Given the description of an element on the screen output the (x, y) to click on. 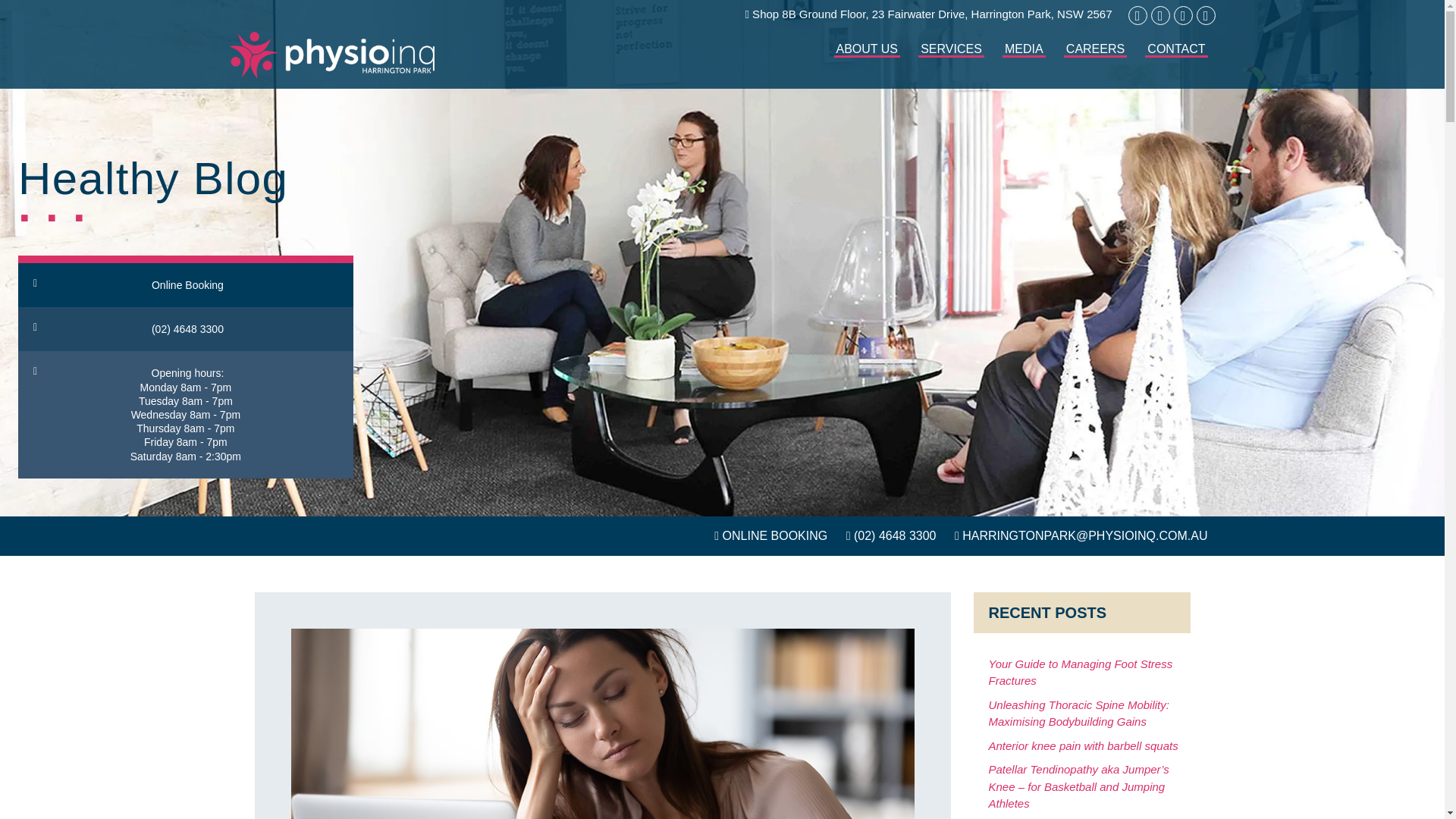
Online Booking (185, 281)
Facebook (1137, 15)
Instagram (1160, 15)
ONLINE BOOKING (770, 535)
CAREERS (1095, 59)
Youtube (1182, 15)
SERVICES (951, 59)
ABOUT US (867, 59)
CONTACT (1175, 59)
MEDIA (1023, 59)
Linkedin (1205, 15)
